Given the description of an element on the screen output the (x, y) to click on. 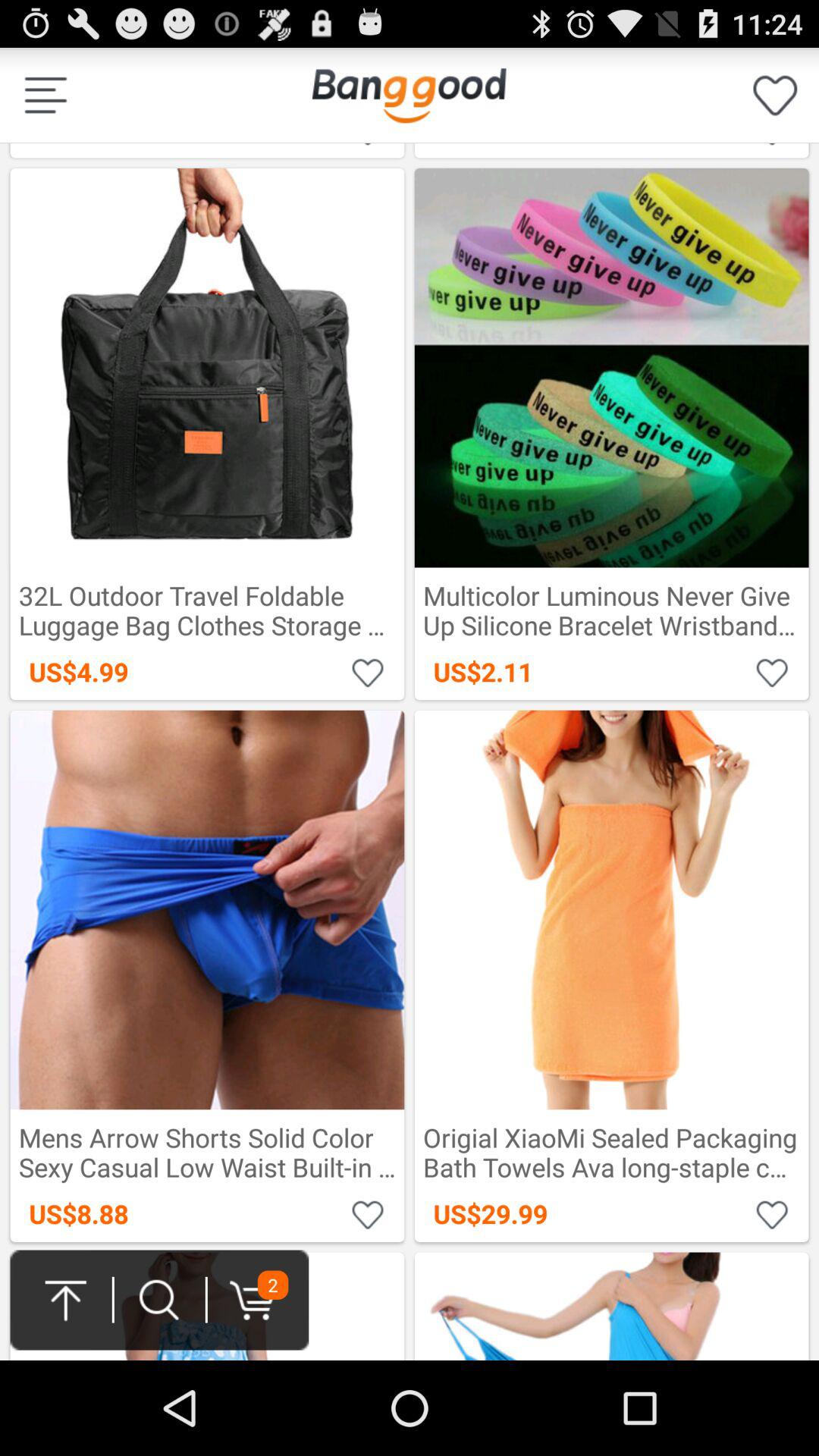
click icon next to us$1.59 app (775, 95)
